Given the description of an element on the screen output the (x, y) to click on. 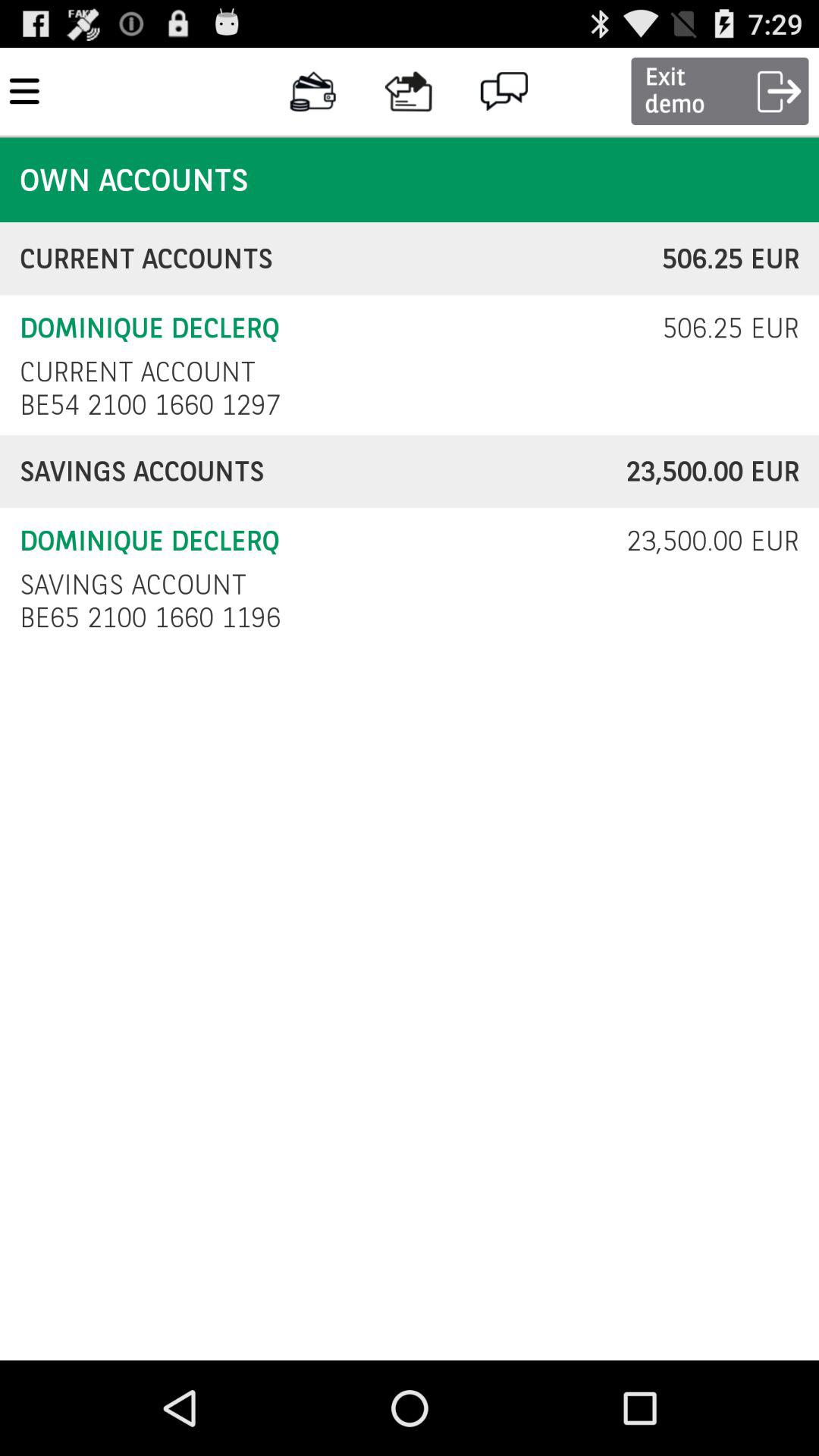
click current account item (137, 371)
